Given the description of an element on the screen output the (x, y) to click on. 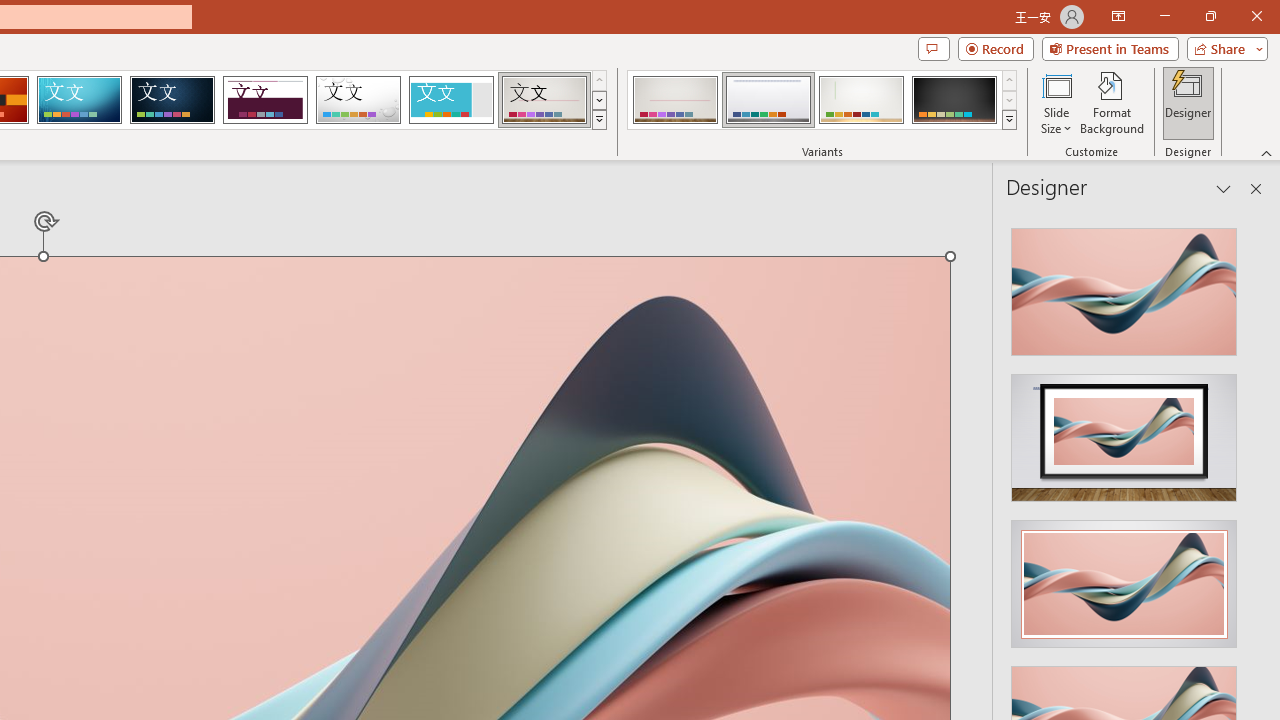
Format Background (1111, 102)
